Given the description of an element on the screen output the (x, y) to click on. 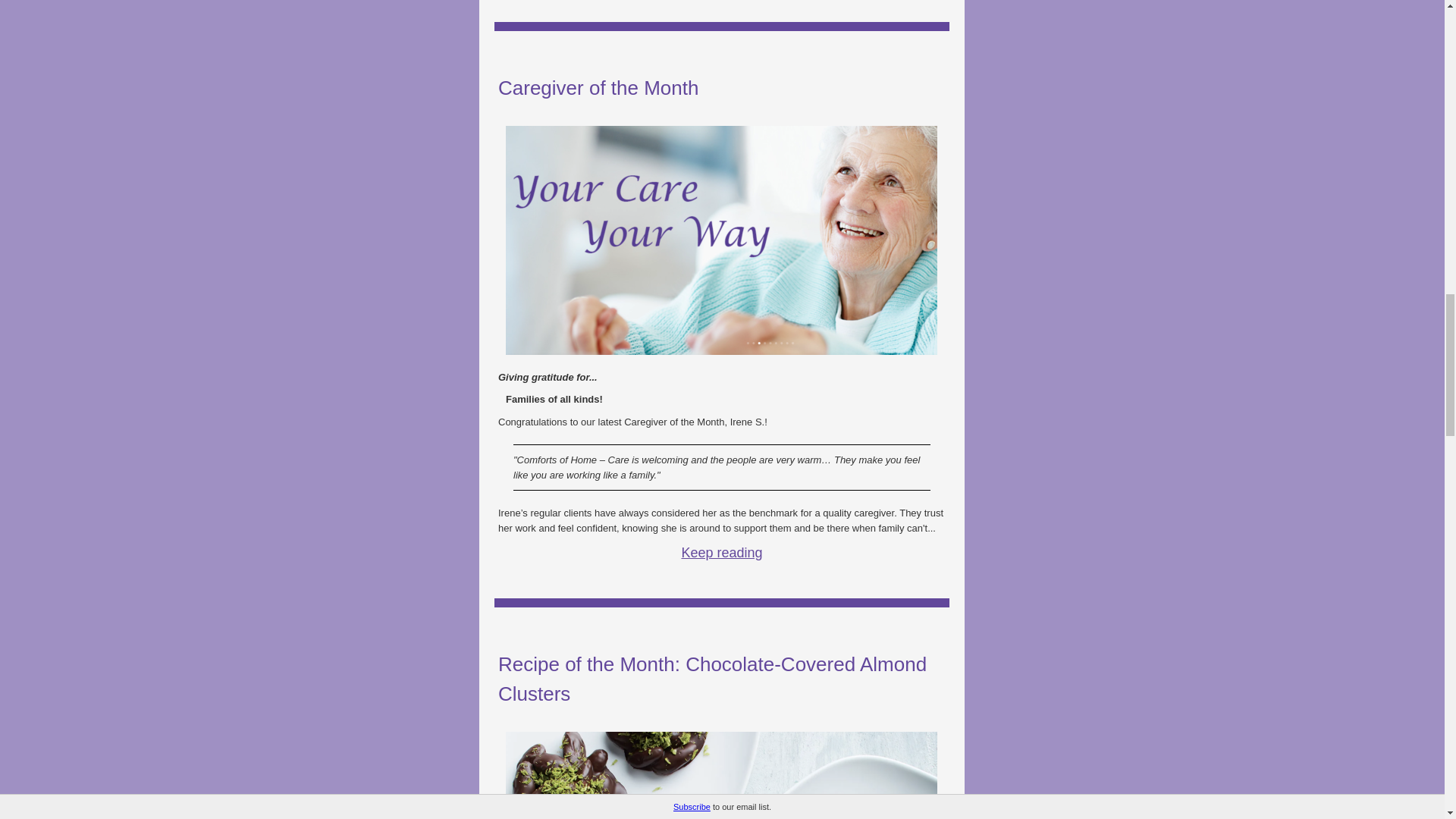
Keep reading (721, 552)
